Given the description of an element on the screen output the (x, y) to click on. 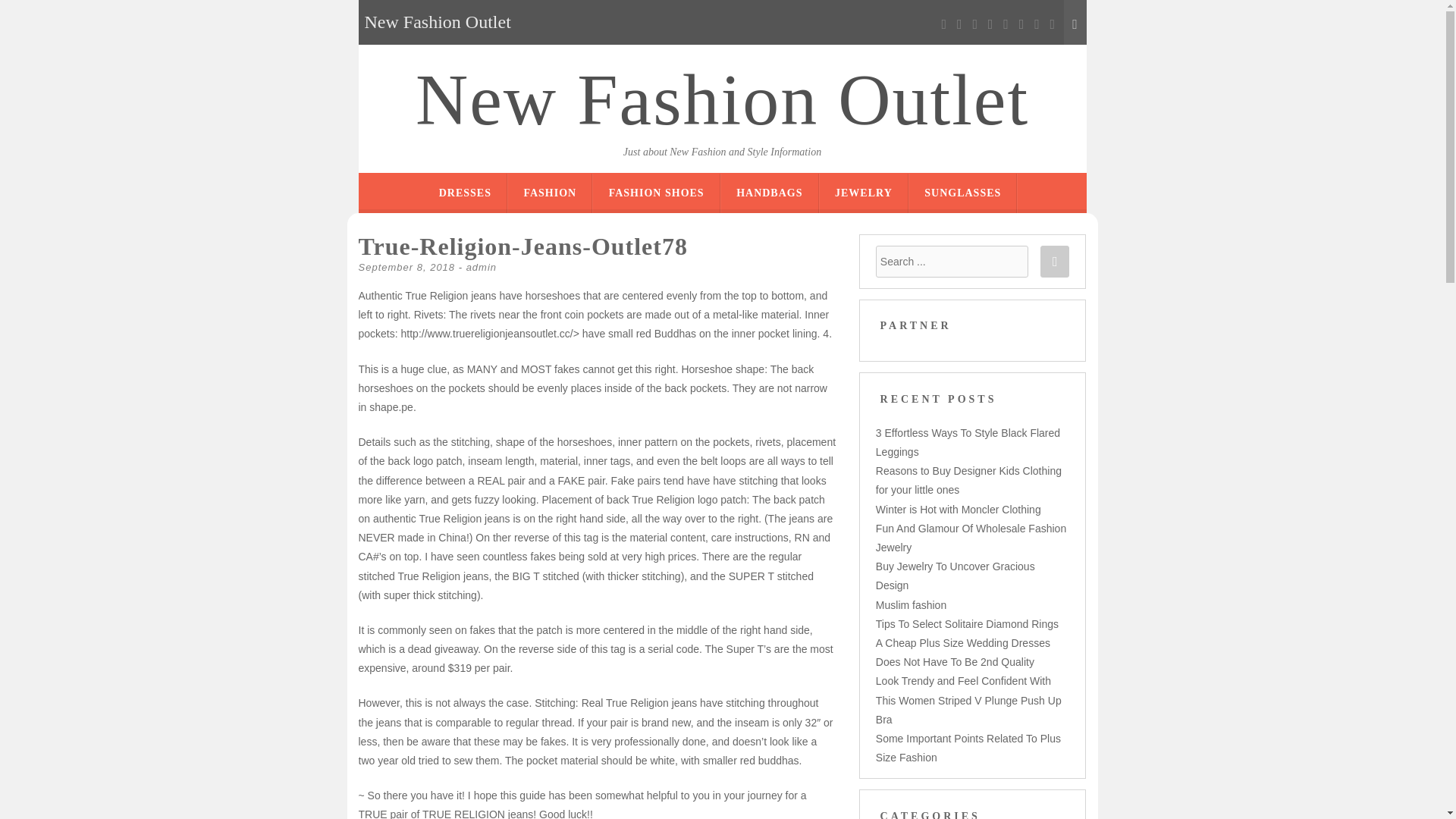
New Fashion Outlet (721, 99)
HANDBAGS (769, 192)
Reasons to Buy Designer Kids Clothing for your little ones (968, 480)
SUNGLASSES (962, 192)
Winter is Hot with Moncler Clothing (958, 509)
3 Effortless Ways To Style Black Flared Leggings (967, 441)
September 8, 2018 (406, 266)
JEWELRY (863, 192)
Buy Jewelry To Uncover Gracious Design (955, 575)
FASHION (549, 192)
